Given the description of an element on the screen output the (x, y) to click on. 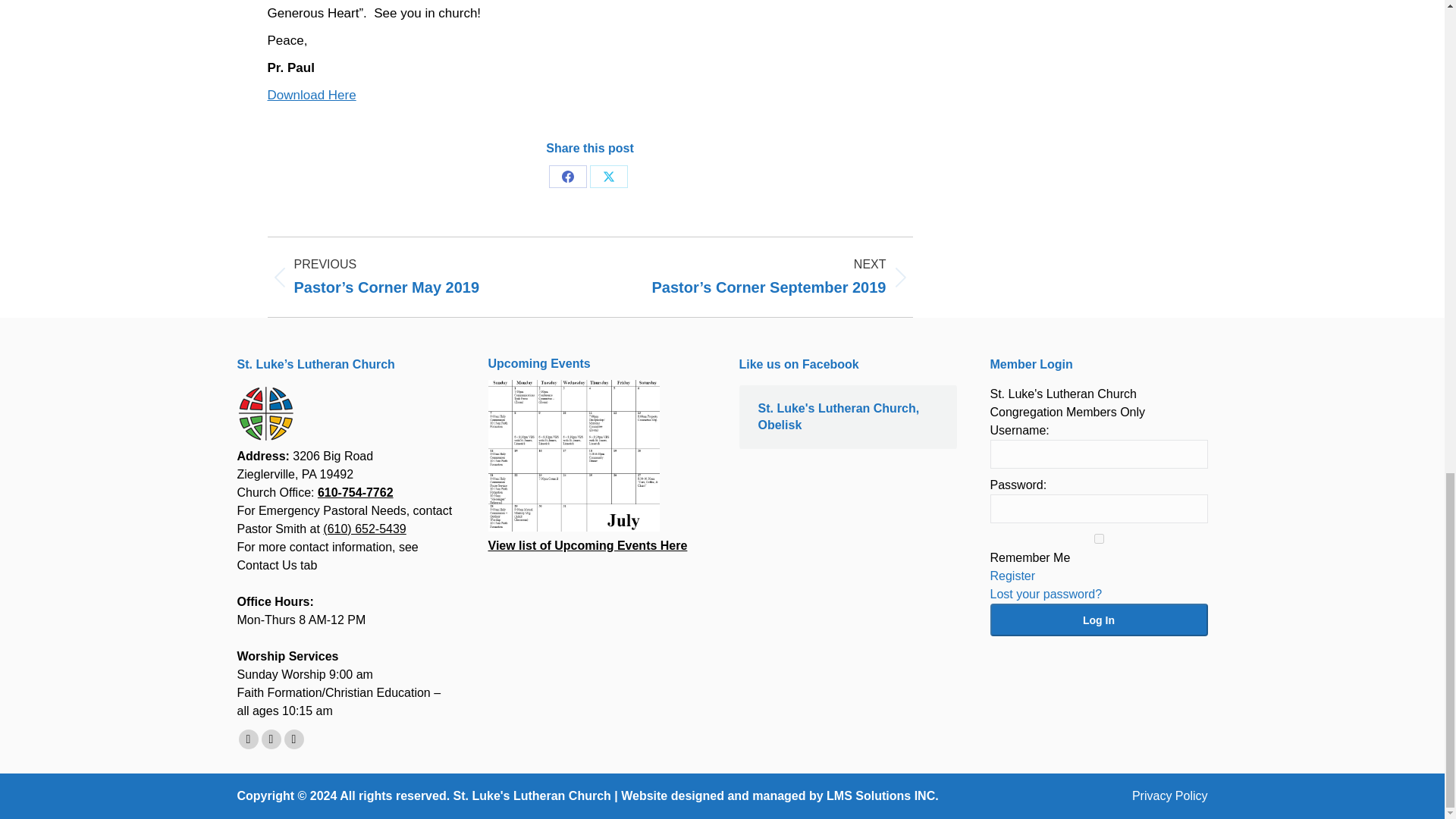
YouTube page opens in new window (270, 739)
Facebook (567, 176)
Facebook page opens in new window (247, 739)
Log In (1099, 619)
Instagram page opens in new window (292, 739)
X (608, 176)
forever (1099, 538)
